Given the description of an element on the screen output the (x, y) to click on. 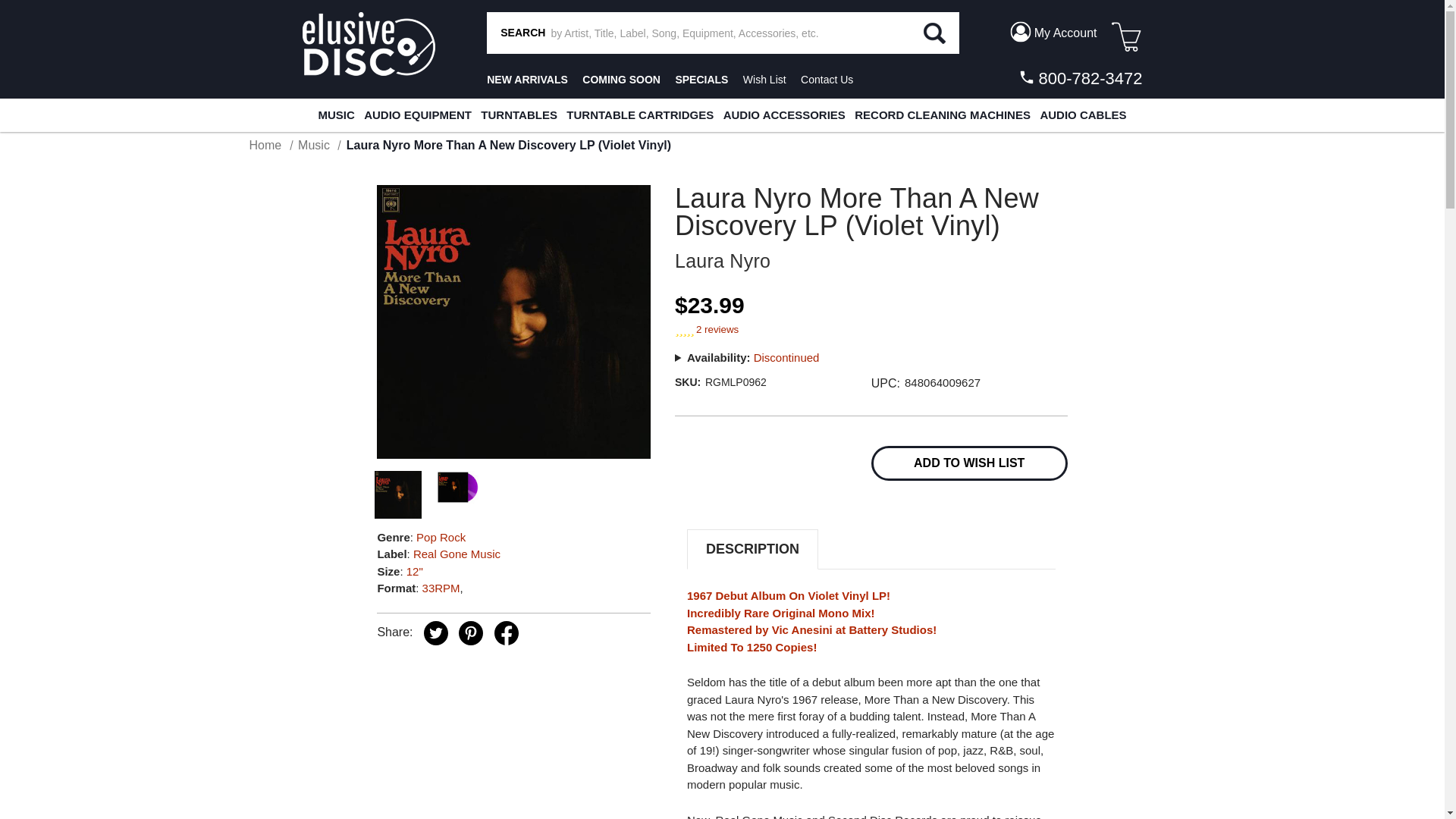
COMING SOON (621, 79)
NEW ARRIVALS (526, 79)
Wish List (764, 79)
SPECIALS (701, 79)
  My Account (1052, 32)
800-782-3472 (1077, 78)
Contact Us (826, 79)
MUSIC (335, 114)
Elusive Disc (367, 44)
